Given the description of an element on the screen output the (x, y) to click on. 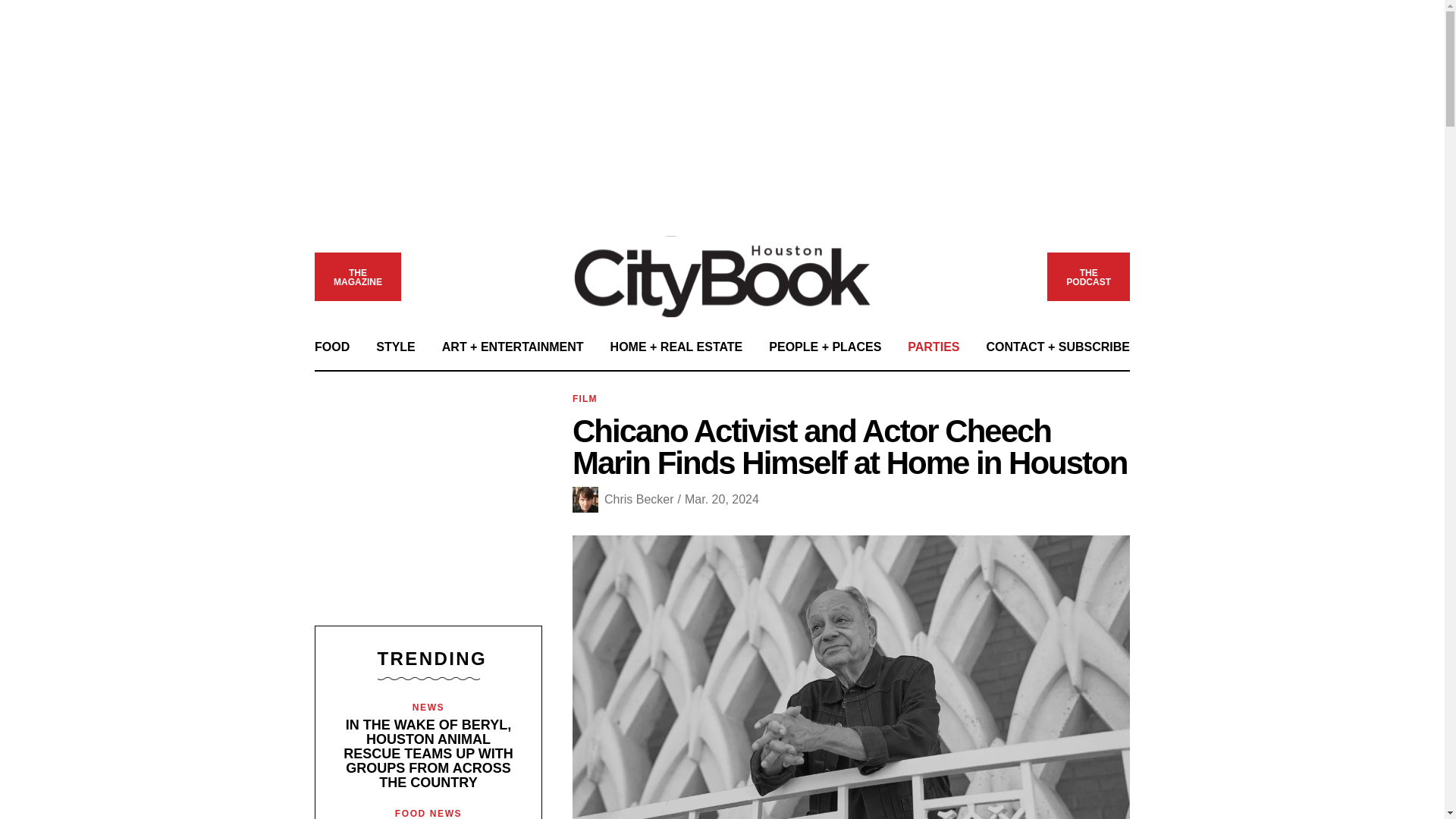
STYLE (394, 346)
3rd party ad content (1087, 277)
3rd party ad content (427, 503)
Houston CityBook logo (357, 277)
